Given the description of an element on the screen output the (x, y) to click on. 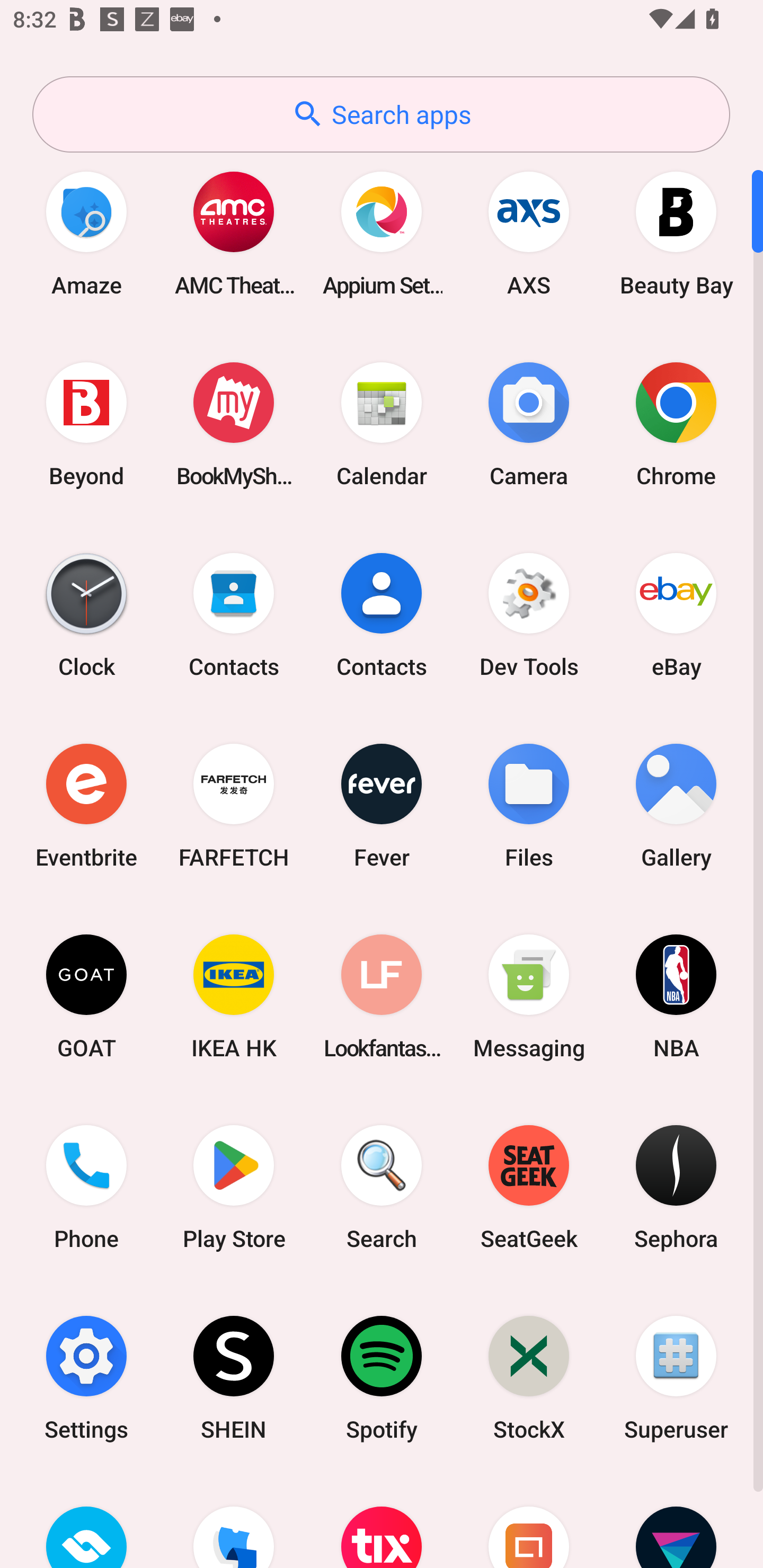
  Search apps (381, 114)
Amaze (86, 233)
AMC Theatres (233, 233)
Appium Settings (381, 233)
AXS (528, 233)
Beauty Bay (676, 233)
Beyond (86, 424)
BookMyShow (233, 424)
Calendar (381, 424)
Camera (528, 424)
Chrome (676, 424)
Clock (86, 614)
Contacts (233, 614)
Contacts (381, 614)
Dev Tools (528, 614)
eBay (676, 614)
Eventbrite (86, 805)
FARFETCH (233, 805)
Fever (381, 805)
Files (528, 805)
Gallery (676, 805)
GOAT (86, 996)
IKEA HK (233, 996)
Lookfantastic (381, 996)
Messaging (528, 996)
NBA (676, 996)
Phone (86, 1186)
Play Store (233, 1186)
Search (381, 1186)
SeatGeek (528, 1186)
Sephora (676, 1186)
Settings (86, 1377)
SHEIN (233, 1377)
Spotify (381, 1377)
StockX (528, 1377)
Superuser (676, 1377)
TicketSwap (86, 1520)
TickPick (233, 1520)
TodayTix (381, 1520)
Urban Ladder (528, 1520)
Vivid Seats (676, 1520)
